Given the description of an element on the screen output the (x, y) to click on. 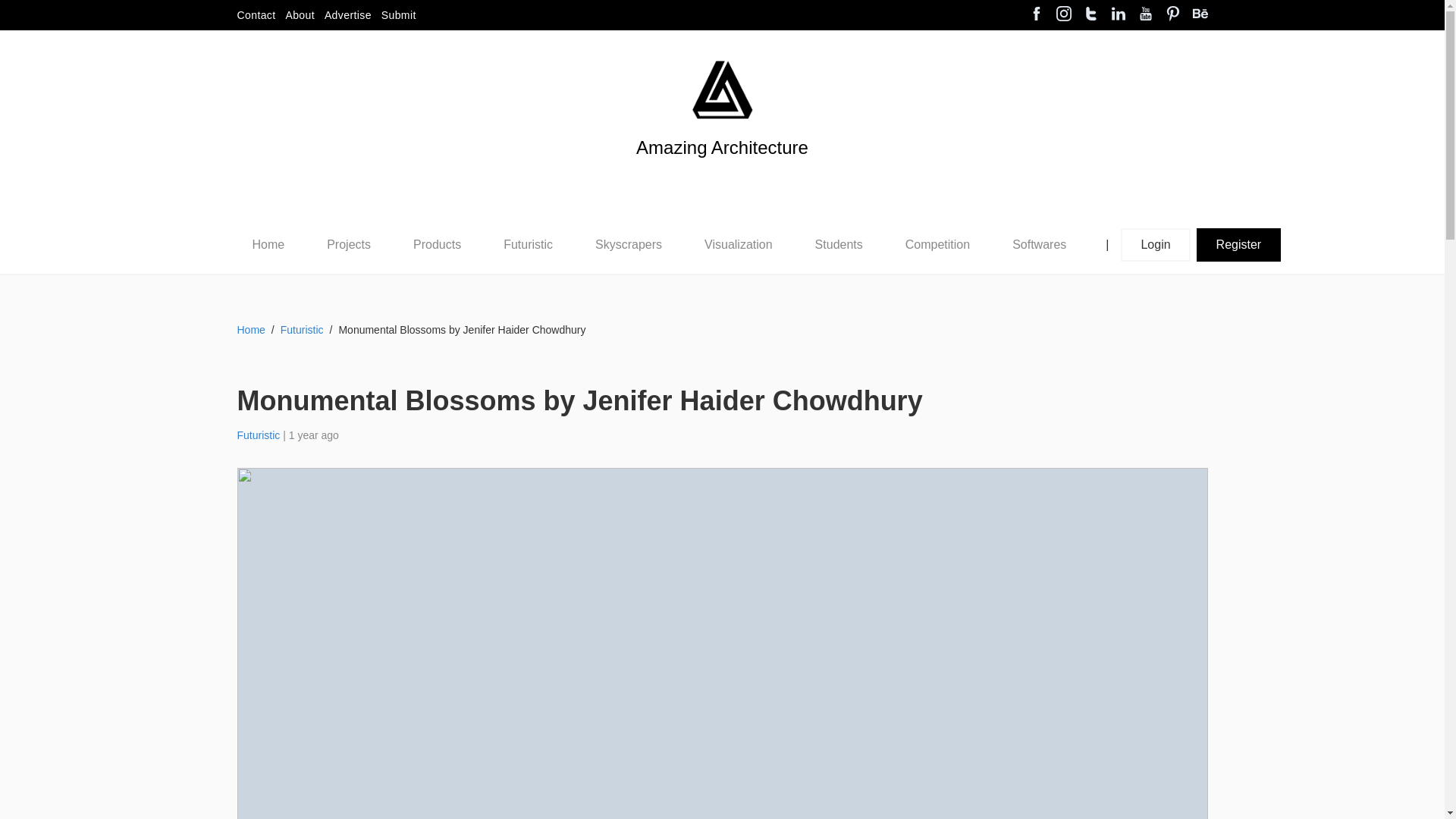
Amazing Architecture (722, 173)
Home (267, 244)
Projects (348, 244)
Contact us page (255, 15)
Advertisement page (347, 15)
Futuristic (528, 244)
Skyscrapers (628, 244)
About (299, 15)
Projects (348, 245)
Submit (398, 15)
